Given the description of an element on the screen output the (x, y) to click on. 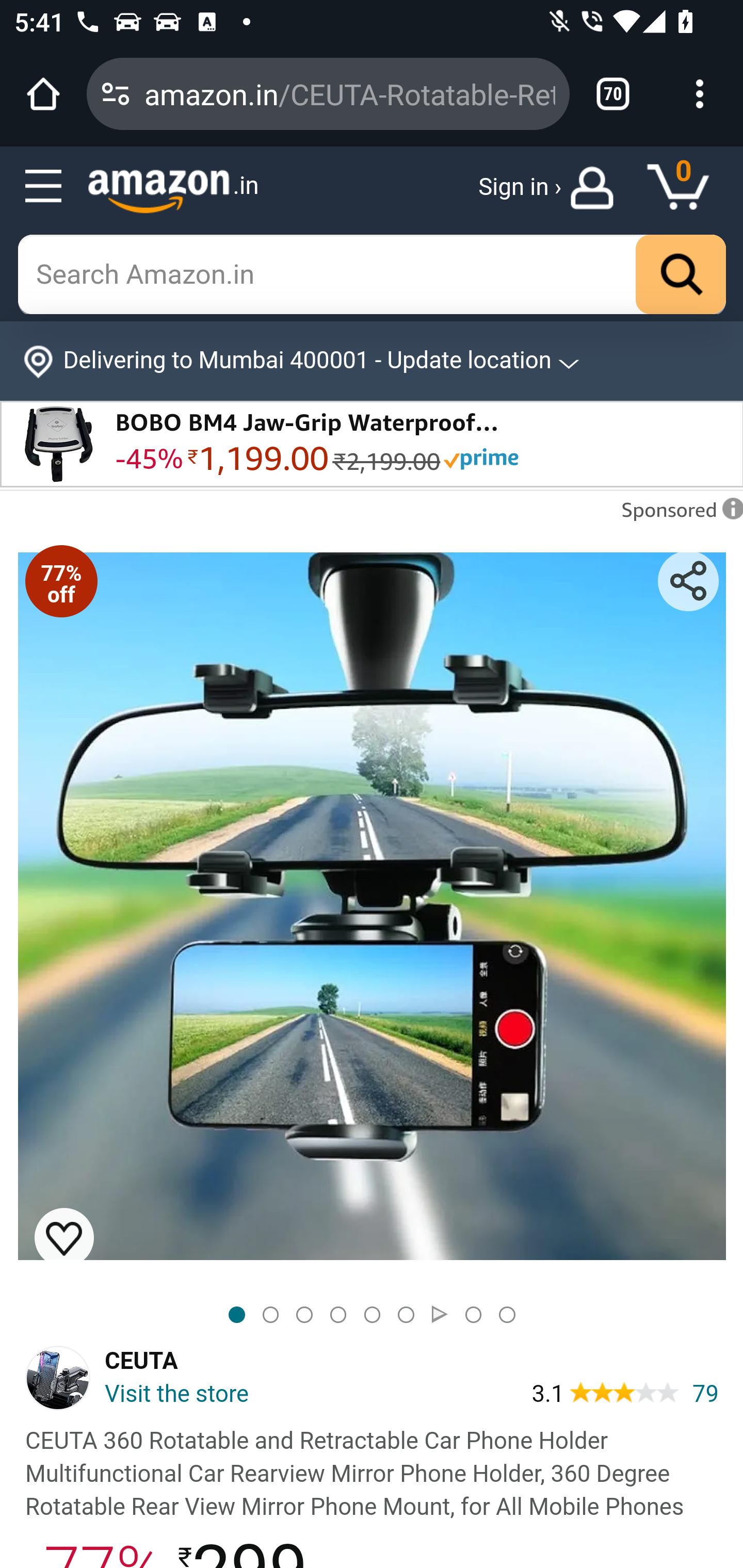
Open the home page (43, 93)
Connection is secure (115, 93)
Switch or close tabs (612, 93)
Customize and control Google Chrome (699, 93)
Open Menu (44, 187)
Sign in › (520, 188)
your account (596, 188)
Cart 0 (687, 188)
Amazon.in .in (173, 191)
Go (681, 275)
Heart to save an item to your default list (63, 1236)
3.1 79 3.1  79 (625, 1392)
Visit the store, CEUTA (141, 1395)
